Given the description of an element on the screen output the (x, y) to click on. 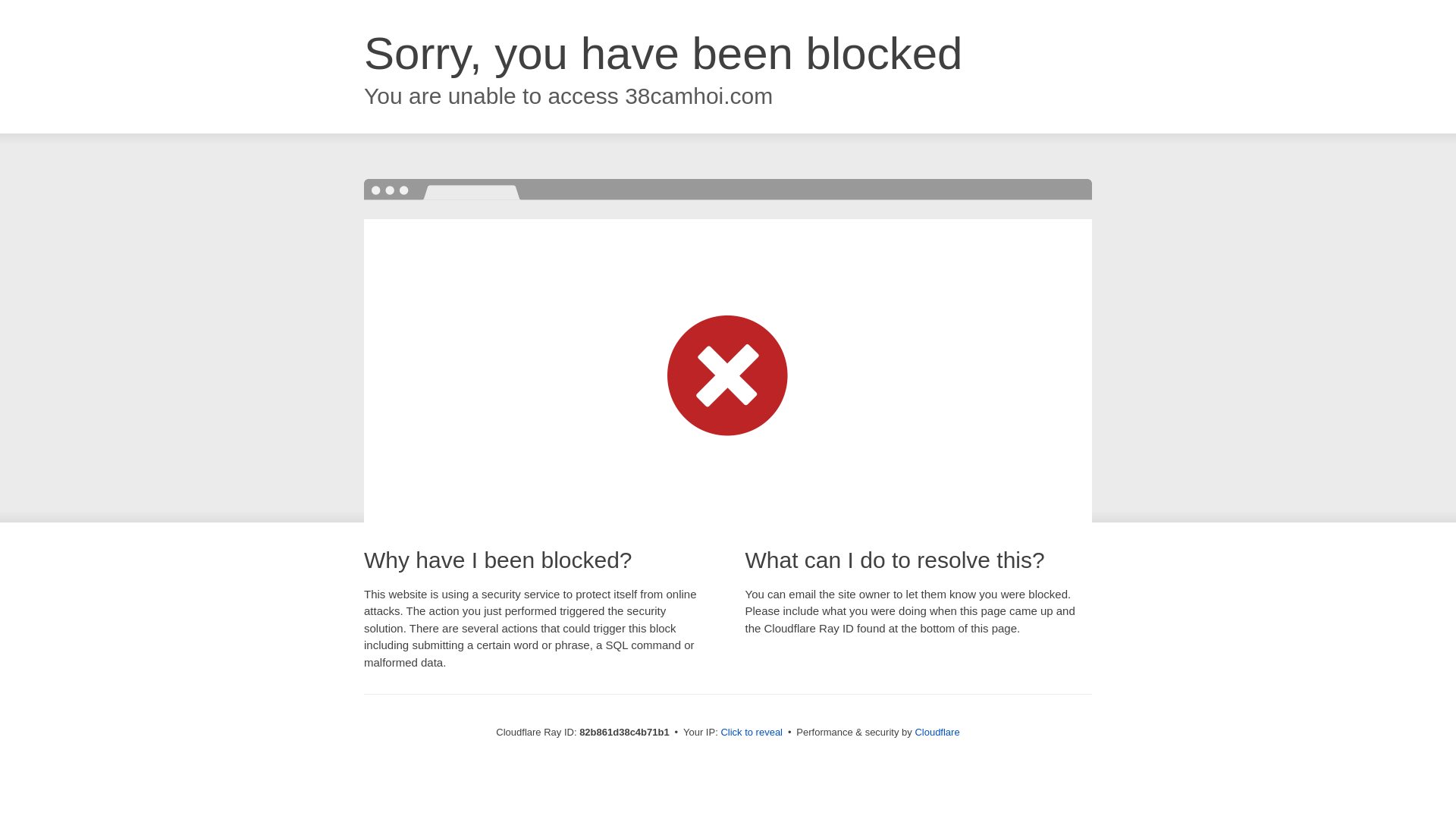
Cloudflare Element type: text (936, 731)
Click to reveal Element type: text (751, 732)
